Given the description of an element on the screen output the (x, y) to click on. 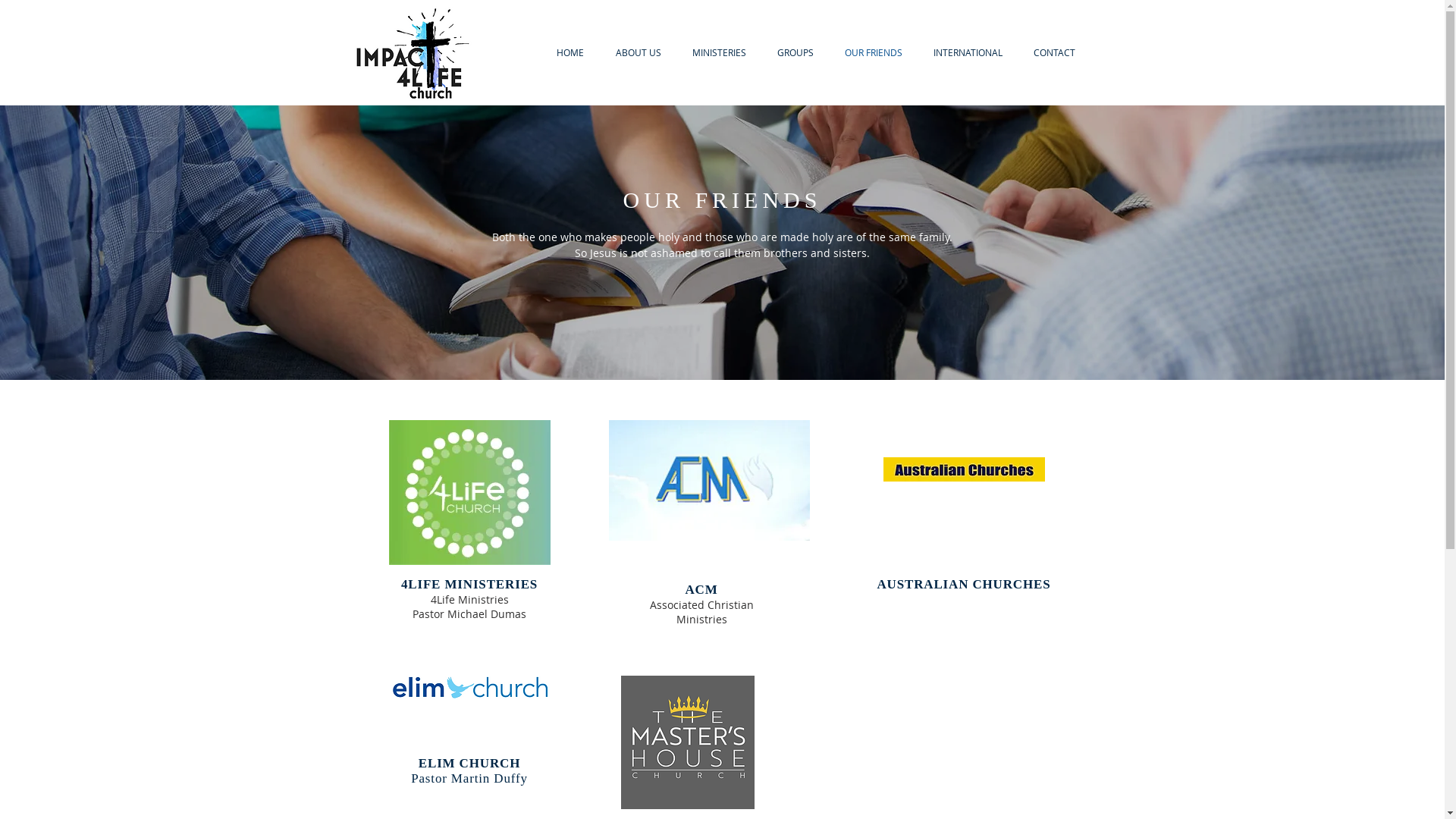
GROUPS Element type: text (794, 52)
CONTACT Element type: text (1053, 52)
ABOUT US Element type: text (637, 52)
MINISTERIES Element type: text (718, 52)
HOME Element type: text (569, 52)
OUR FRIENDS Element type: text (873, 52)
INTERNATIONAL Element type: text (967, 52)
